Given the description of an element on the screen output the (x, y) to click on. 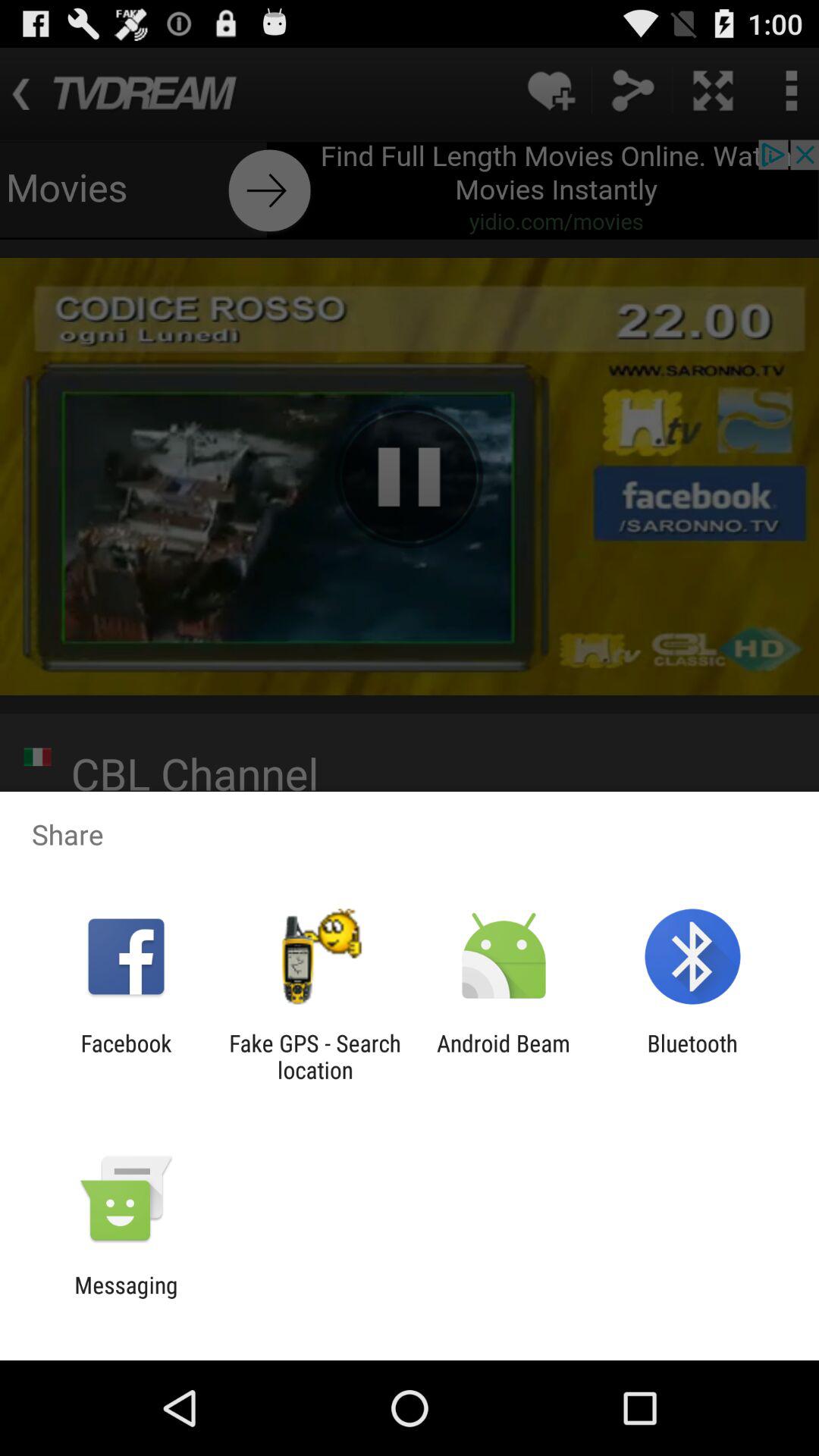
press icon next to the android beam icon (314, 1056)
